Given the description of an element on the screen output the (x, y) to click on. 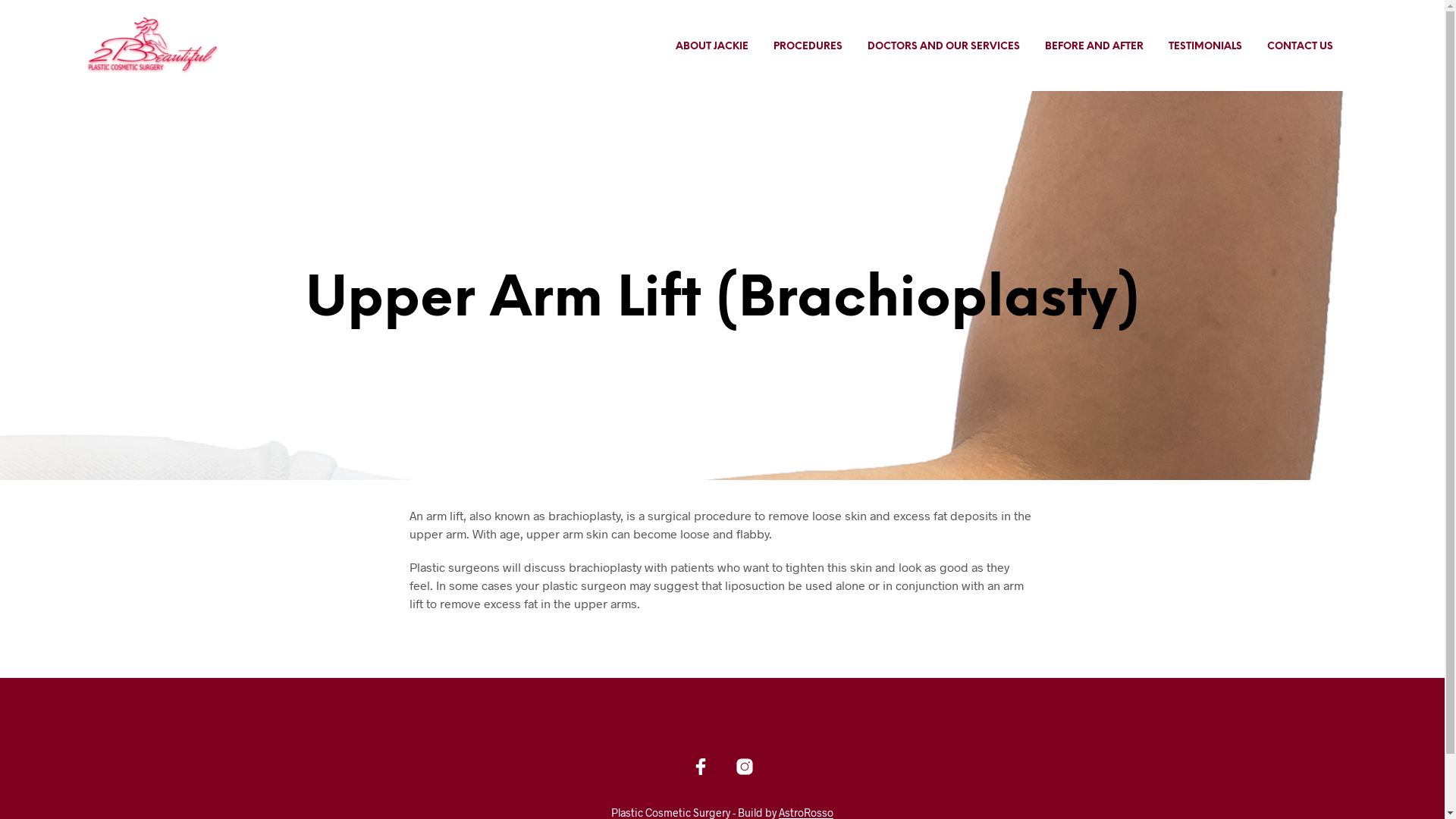
PROCEDURES Element type: text (807, 46)
CONTACT US Element type: text (1299, 46)
ABOUT JACKIE Element type: text (711, 46)
BEFORE AND AFTER Element type: text (1093, 46)
DOCTORS AND OUR SERVICES Element type: text (942, 46)
TESTIMONIALS Element type: text (1205, 46)
